Given the description of an element on the screen output the (x, y) to click on. 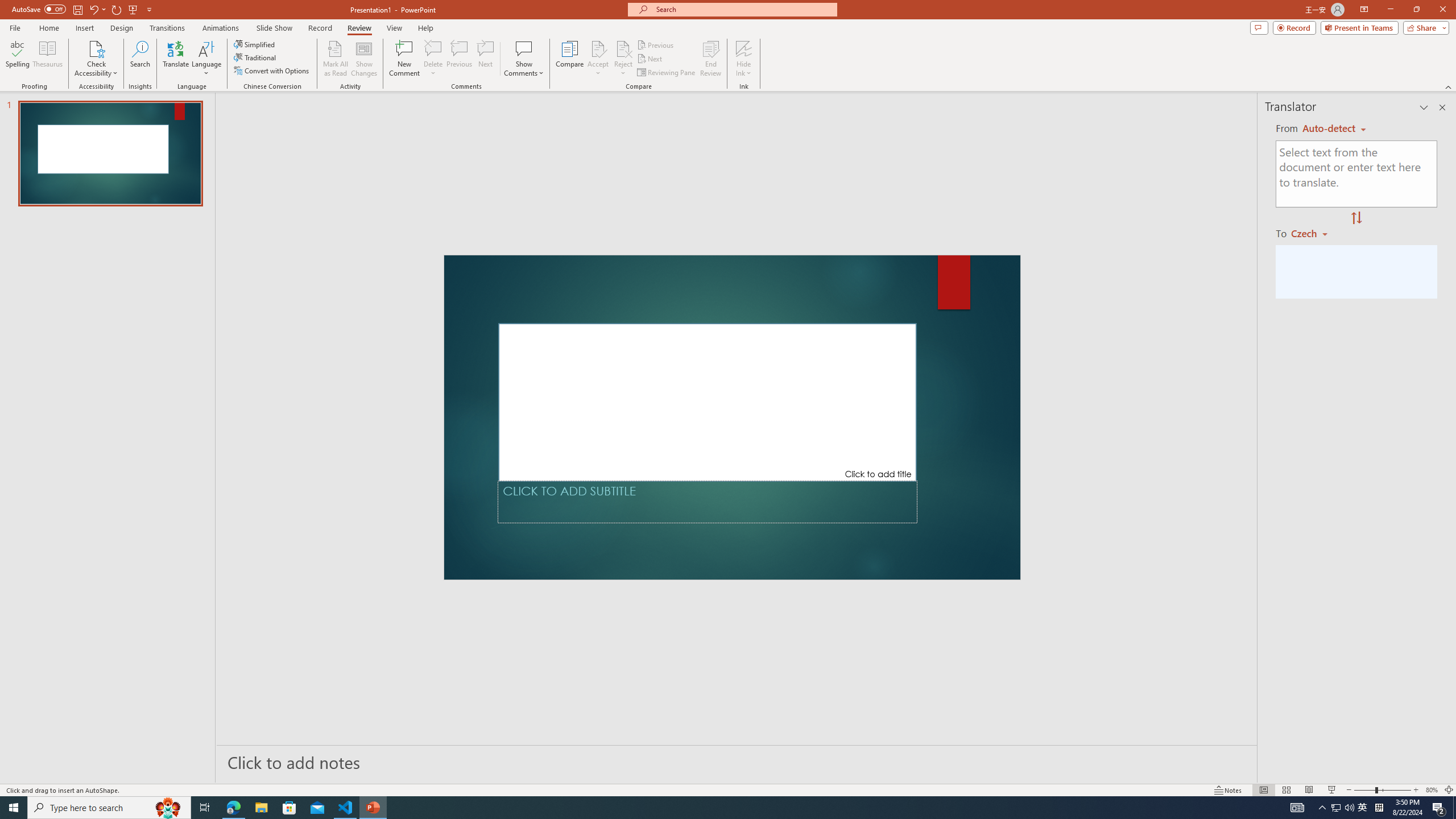
Reviewing Pane (666, 72)
Show Changes (363, 58)
Reject Change (622, 48)
Thesaurus... (47, 58)
Simplified (254, 44)
